Given the description of an element on the screen output the (x, y) to click on. 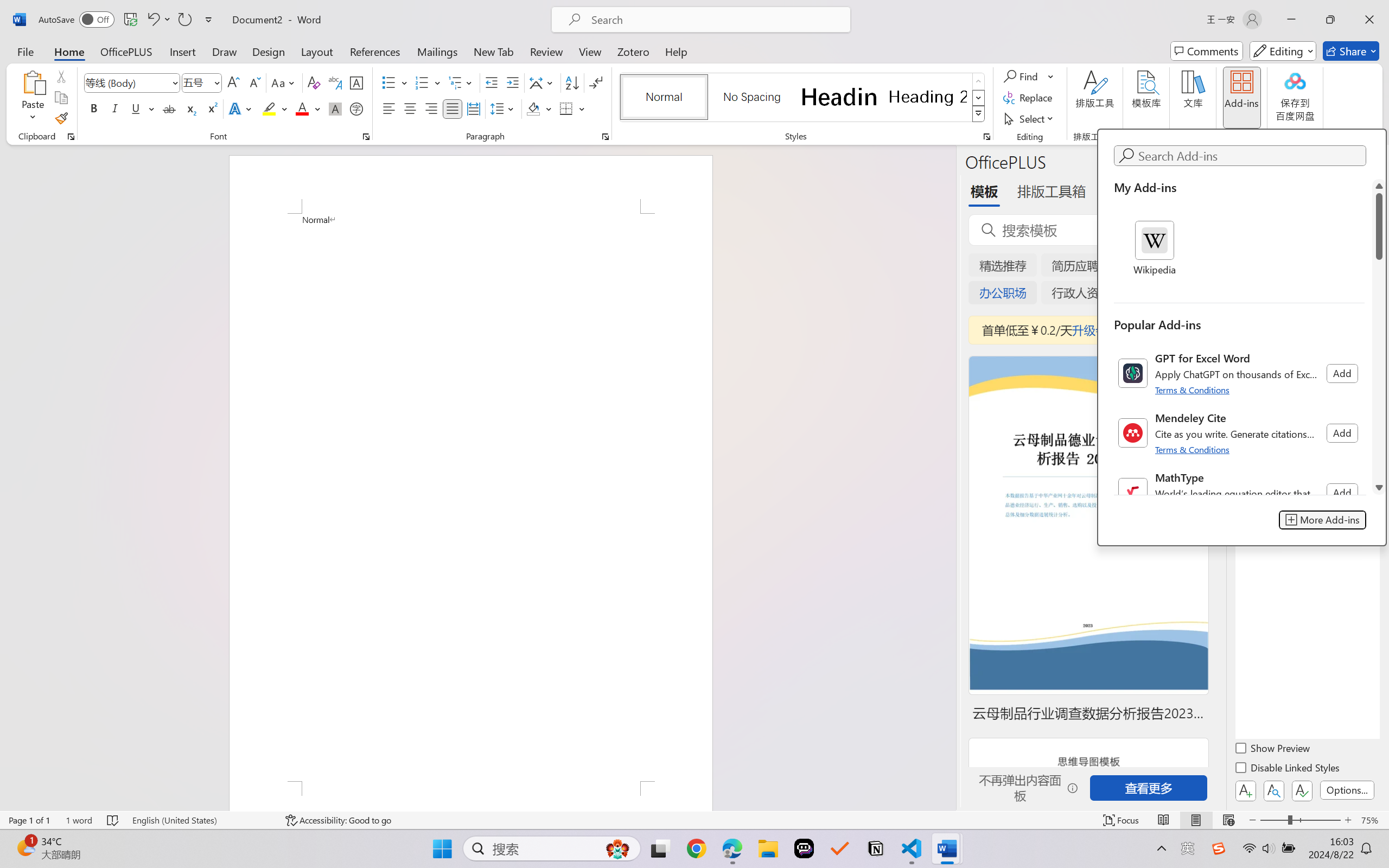
Reset to Cameo (257, 62)
Learn More (351, 62)
Outline (216, 105)
Screen Recording (157, 62)
